Given the description of an element on the screen output the (x, y) to click on. 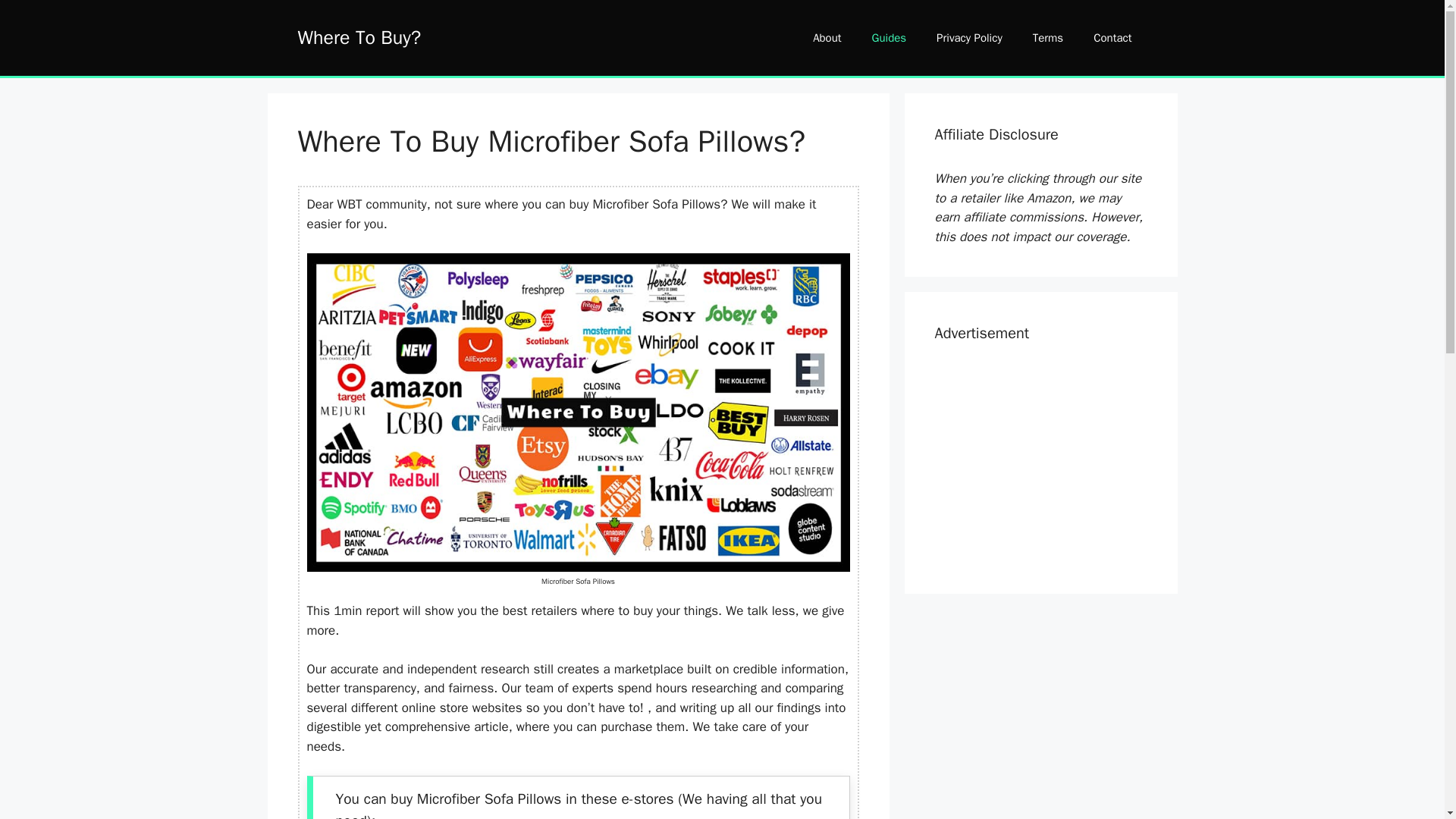
Contact (1112, 37)
Guides (889, 37)
Terms (1047, 37)
About (826, 37)
Privacy Policy (969, 37)
Where To Buy? (358, 37)
